Given the description of an element on the screen output the (x, y) to click on. 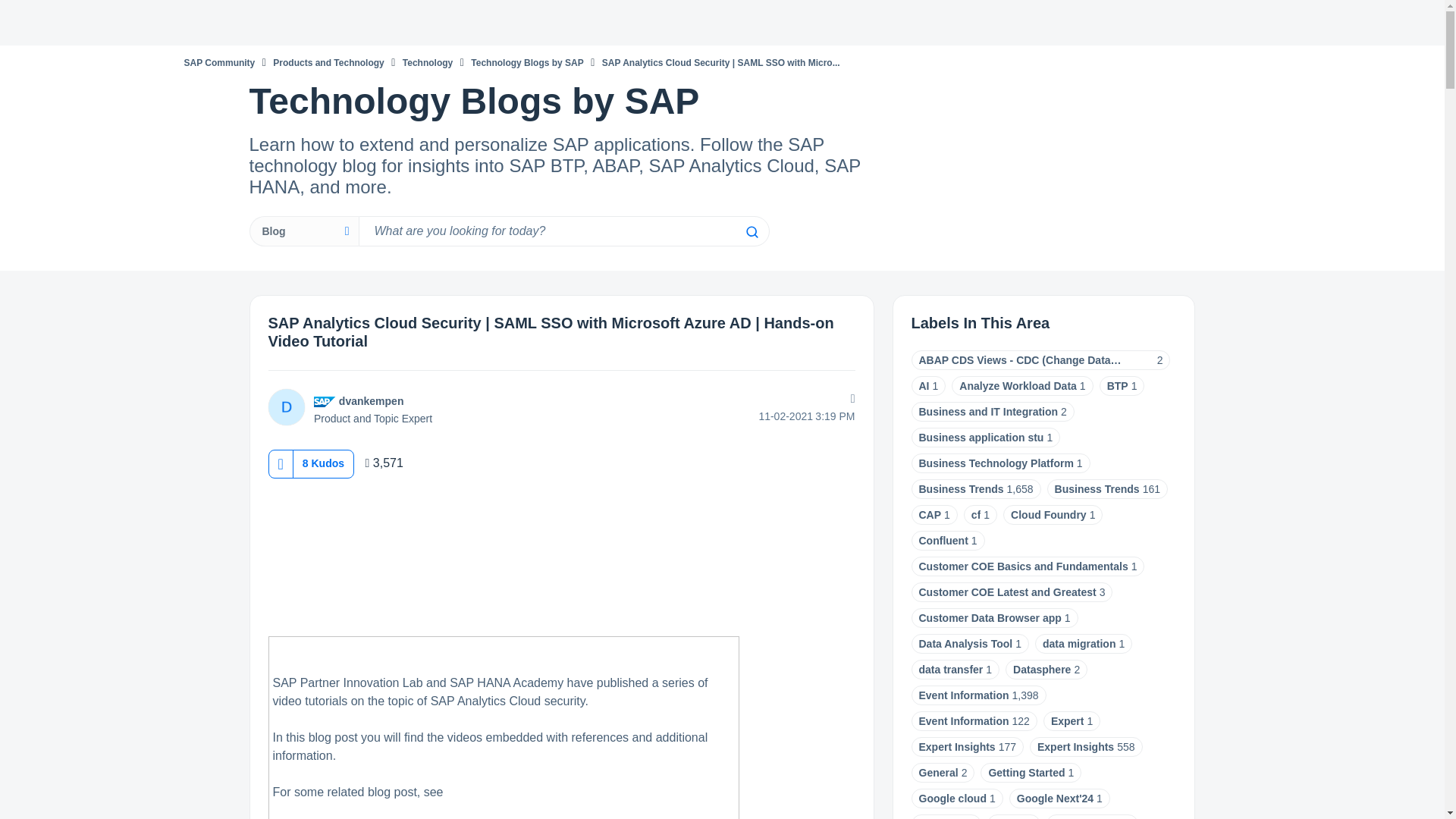
dvankempen (285, 407)
Search (750, 232)
Search (750, 232)
Product and Topic Expert (325, 401)
Posted on (757, 416)
Search Granularity (303, 231)
Click here to see who gave kudos to this post. (323, 462)
dvankempen (371, 400)
Products and Technology (328, 62)
8 Kudos (323, 462)
